Given the description of an element on the screen output the (x, y) to click on. 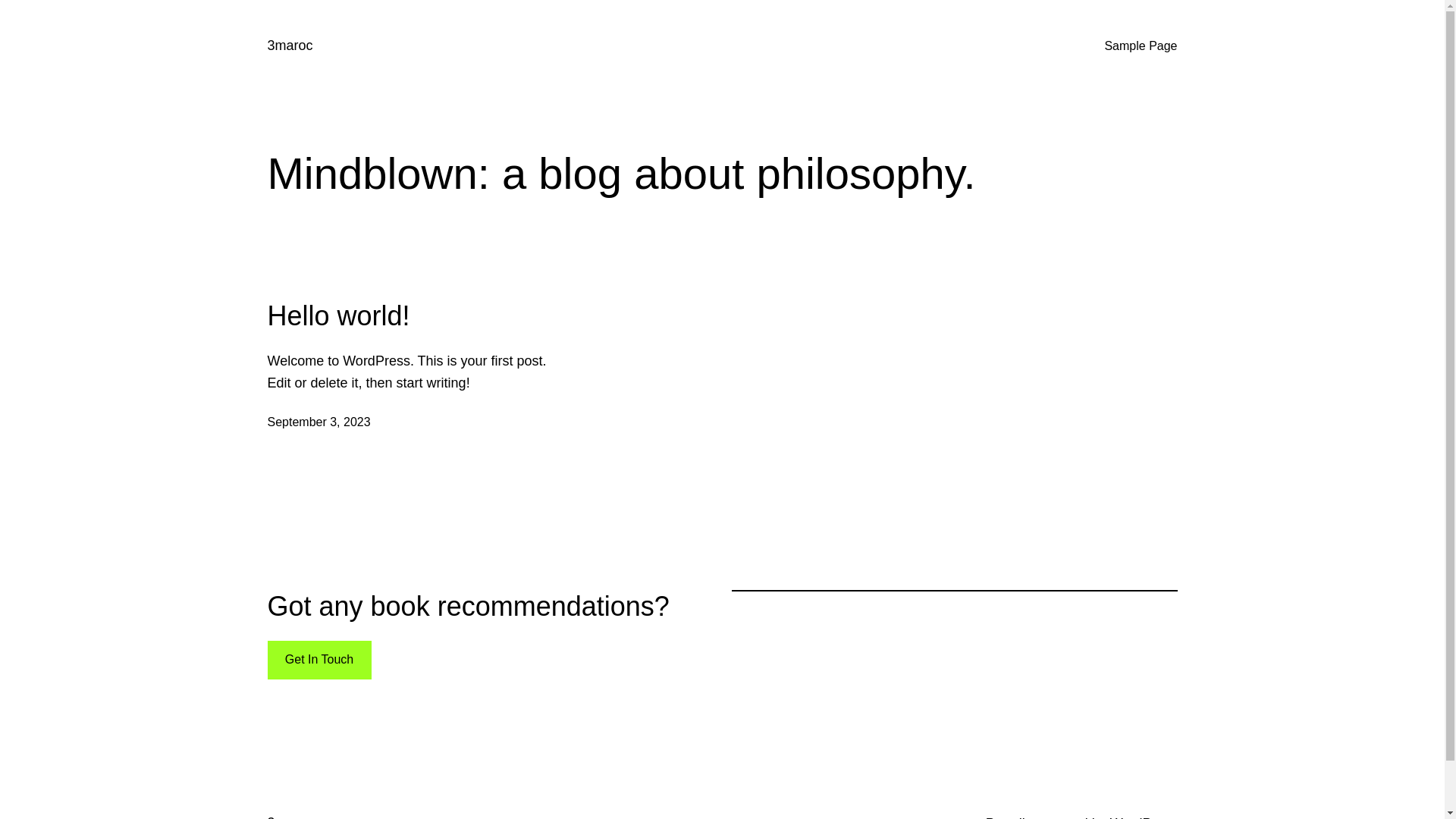
3maroc Element type: text (289, 45)
Sample Page Element type: text (1140, 46)
Hello world! Element type: text (337, 315)
Get In Touch Element type: text (318, 659)
September 3, 2023 Element type: text (318, 421)
